Given the description of an element on the screen output the (x, y) to click on. 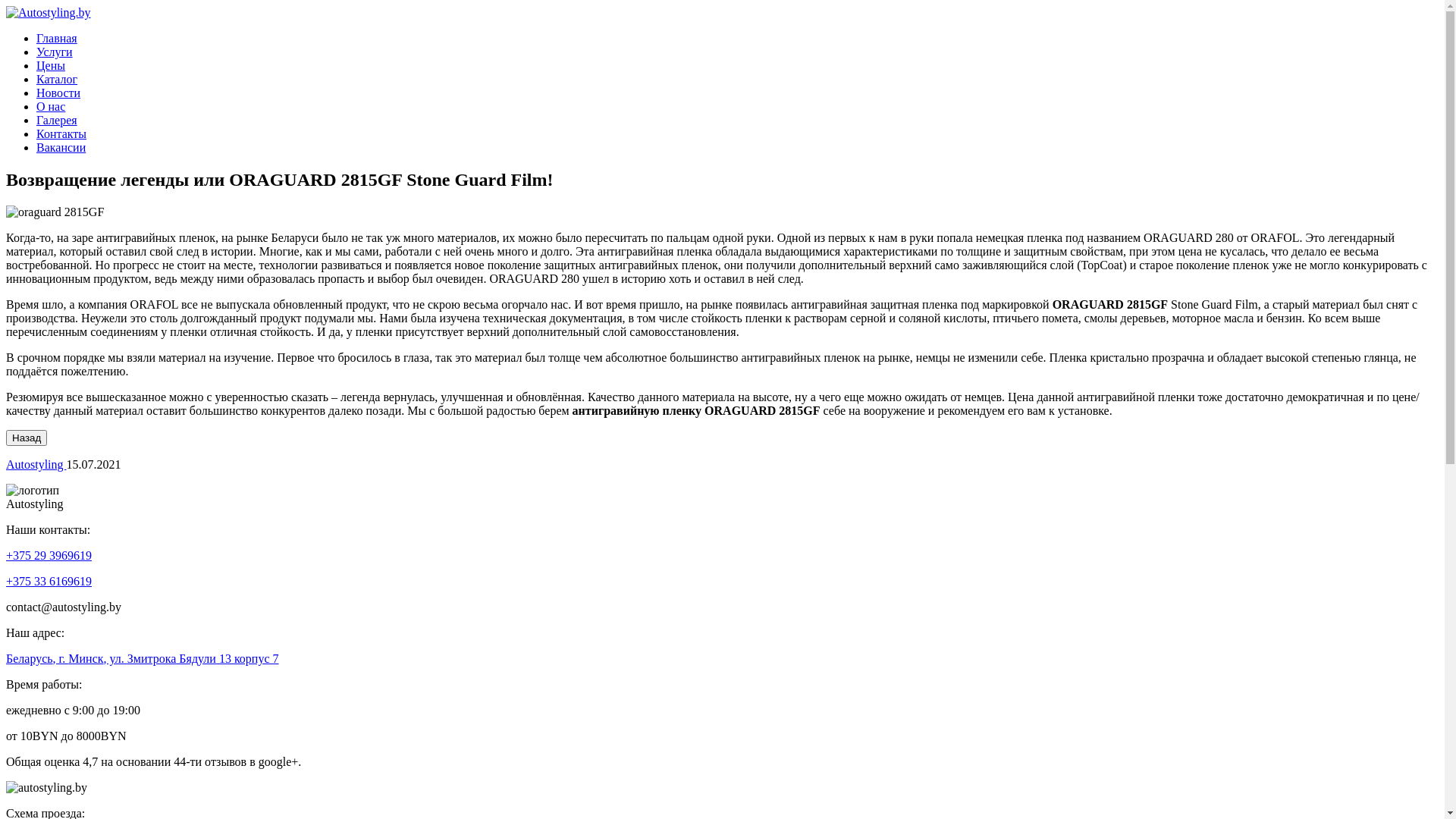
+375 29 3969619 Element type: text (48, 555)
Autostyling Element type: text (36, 464)
+375 33 6169619 Element type: text (48, 580)
